Given the description of an element on the screen output the (x, y) to click on. 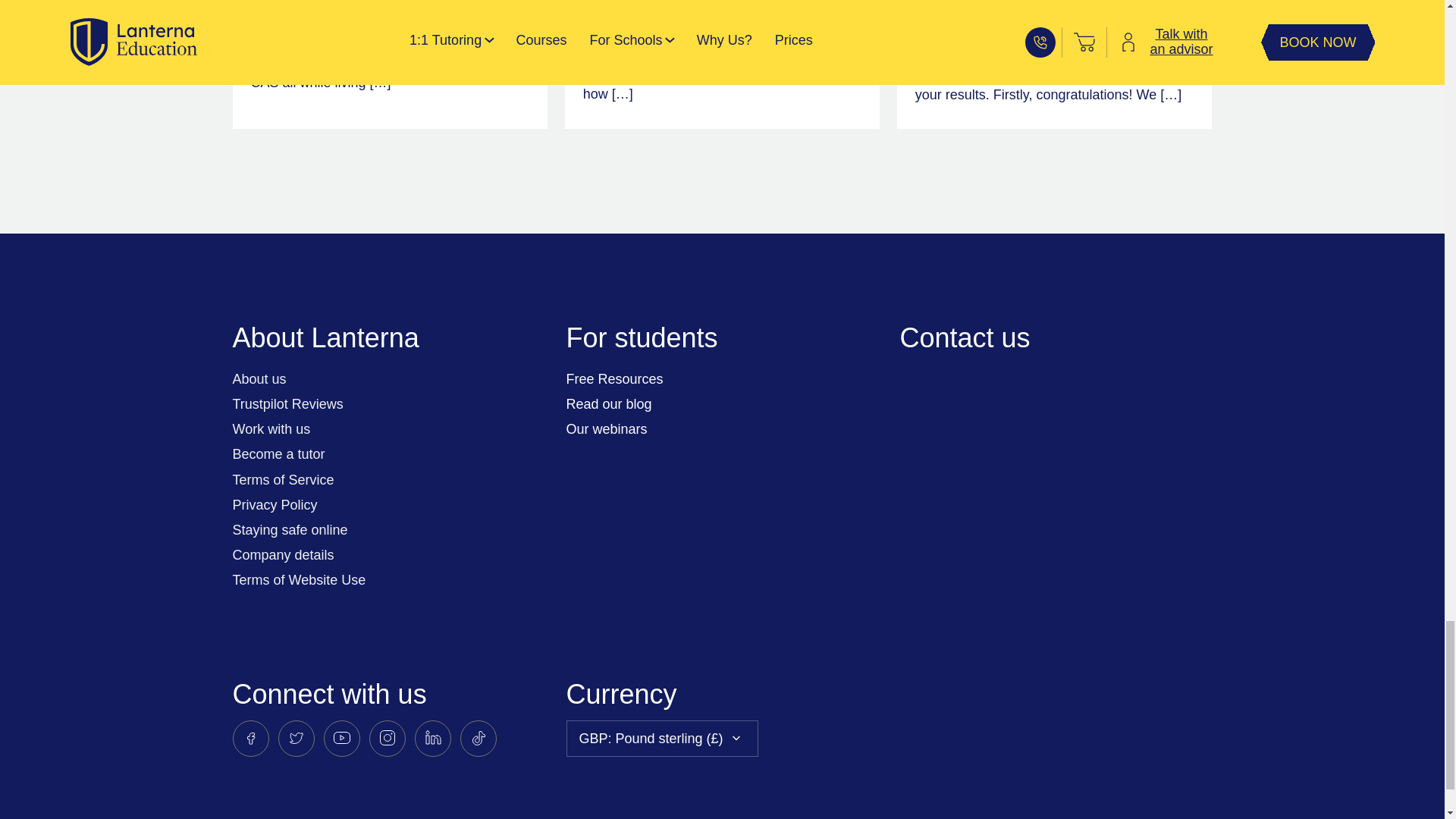
instagram (386, 738)
youtube (341, 738)
twitter (296, 738)
tiktok (478, 738)
linkedin (431, 738)
facebook (249, 738)
